Given the description of an element on the screen output the (x, y) to click on. 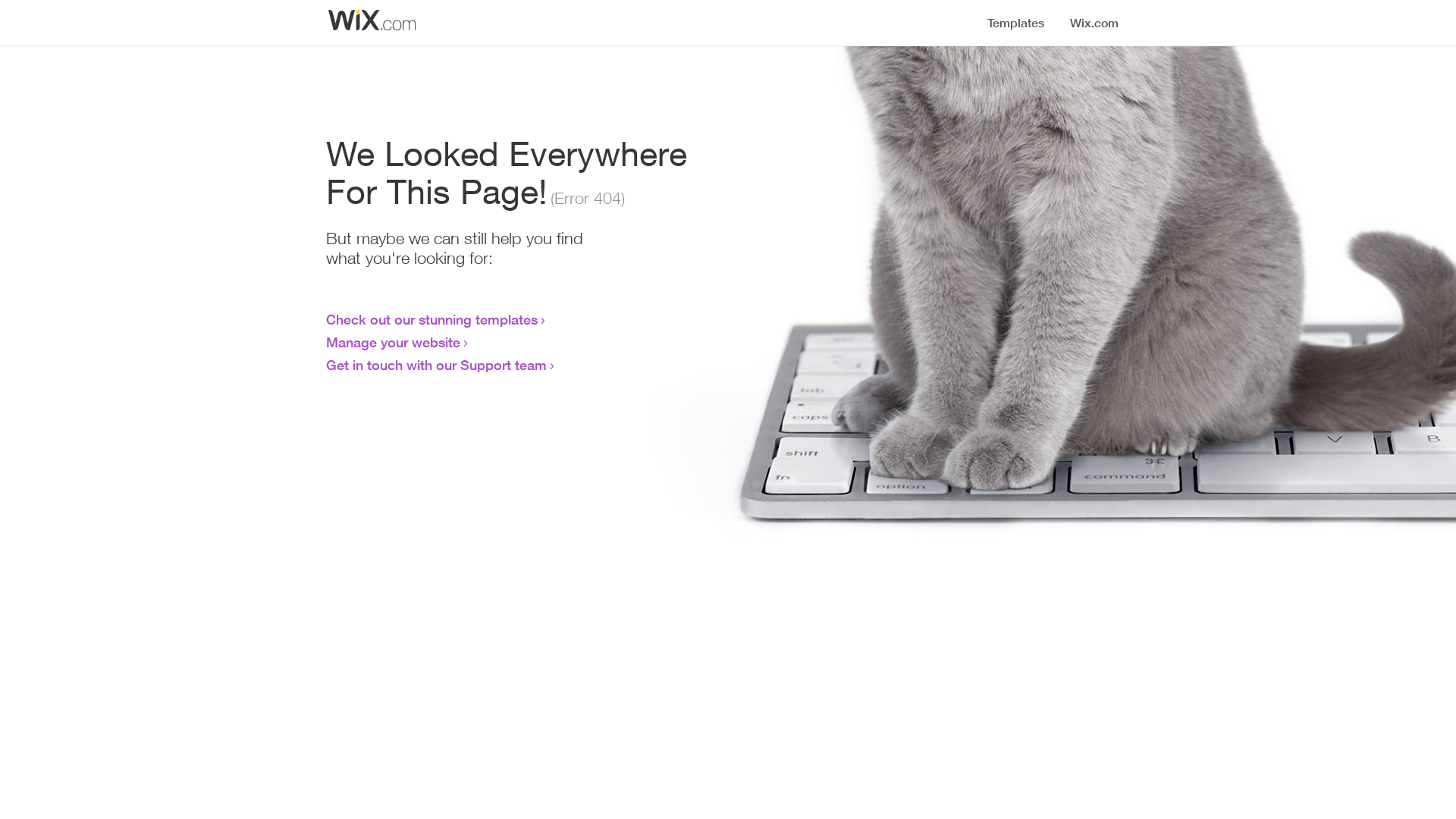
Manage your website Element type: text (393, 341)
Get in touch with our Support team Element type: text (436, 364)
Check out our stunning templates Element type: text (431, 318)
